Given the description of an element on the screen output the (x, y) to click on. 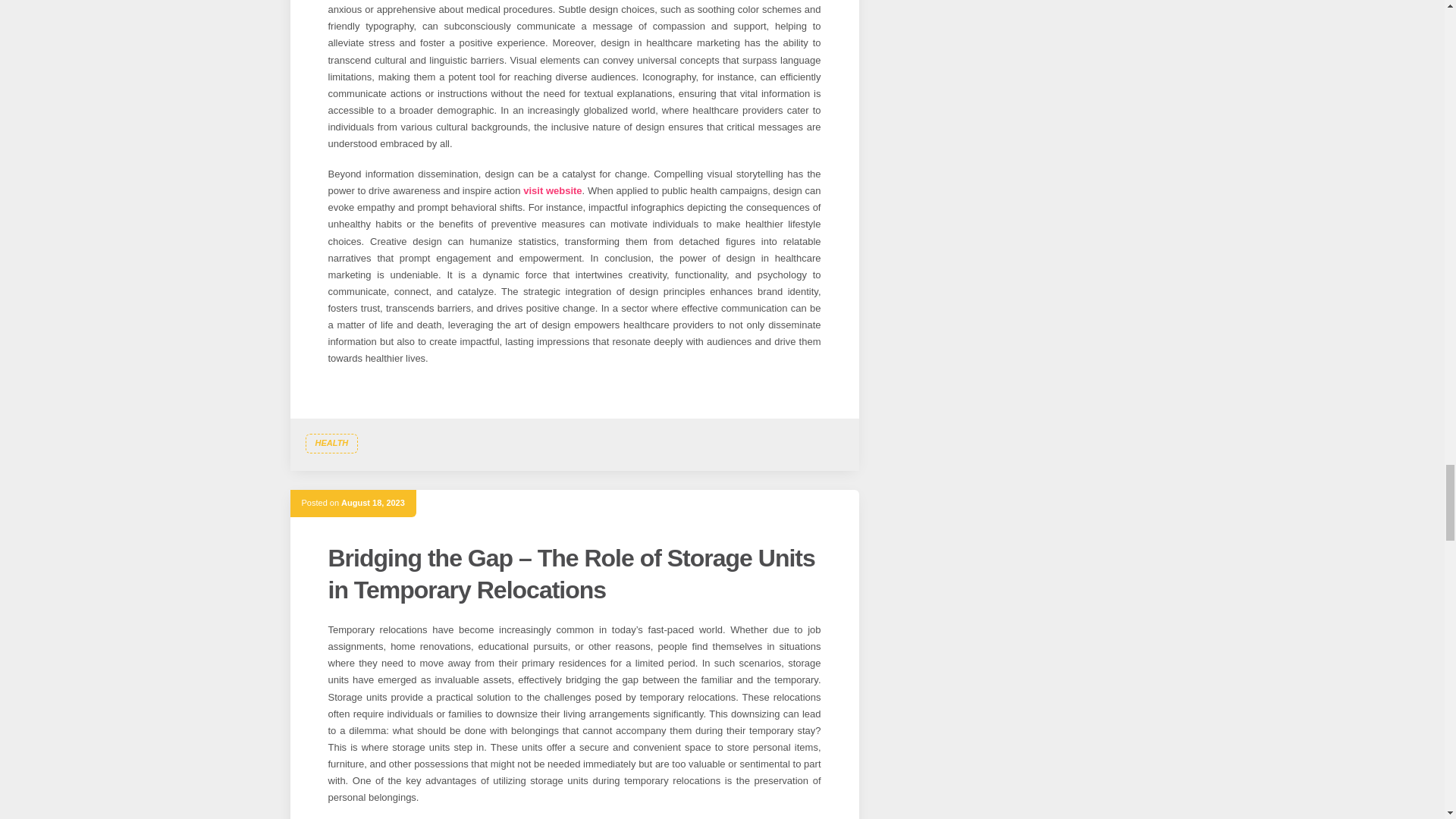
August 18, 2023 (372, 501)
HEALTH (331, 443)
visit website (551, 190)
